Given the description of an element on the screen output the (x, y) to click on. 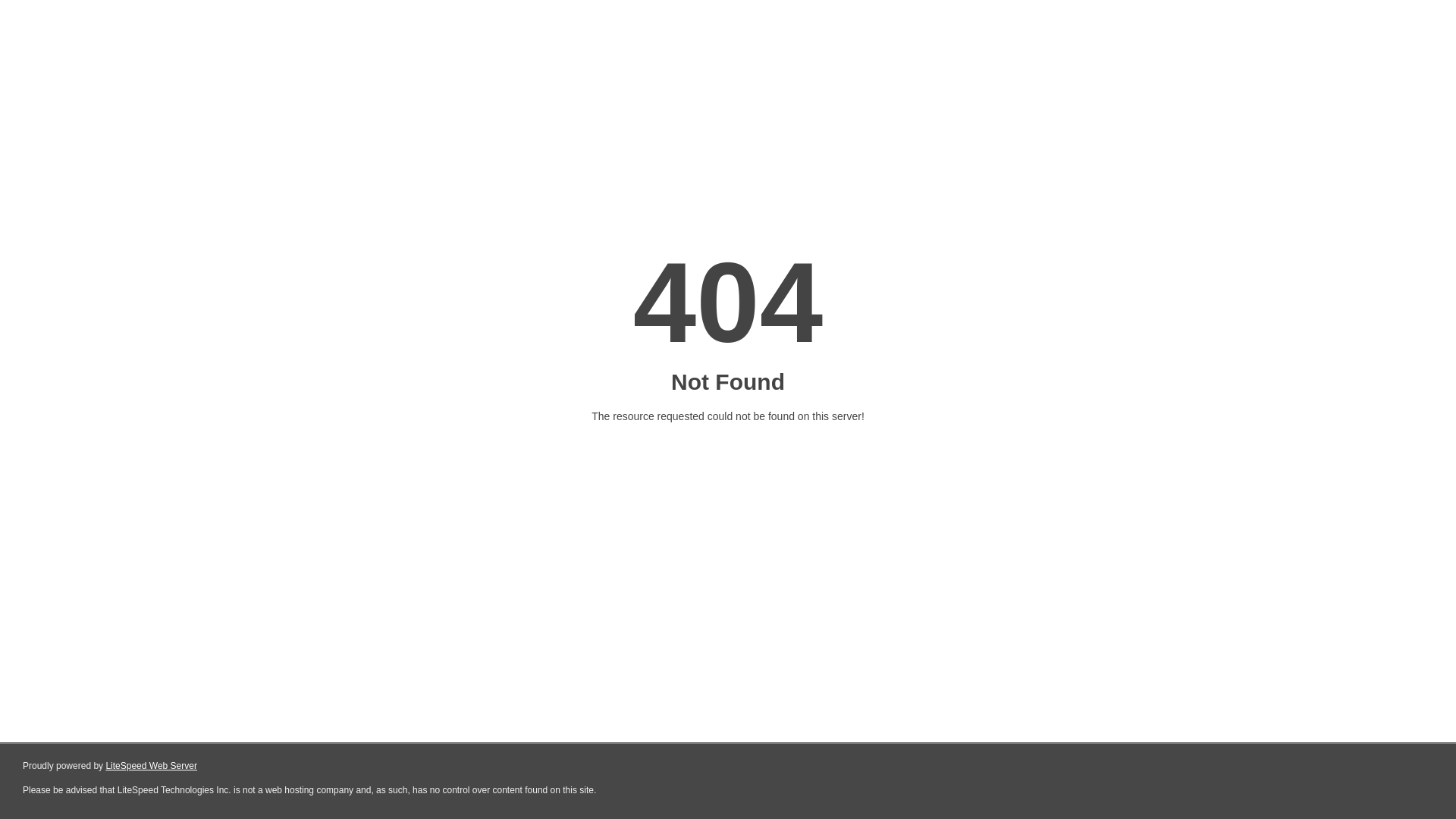
LiteSpeed Web Server Element type: text (151, 765)
